Given the description of an element on the screen output the (x, y) to click on. 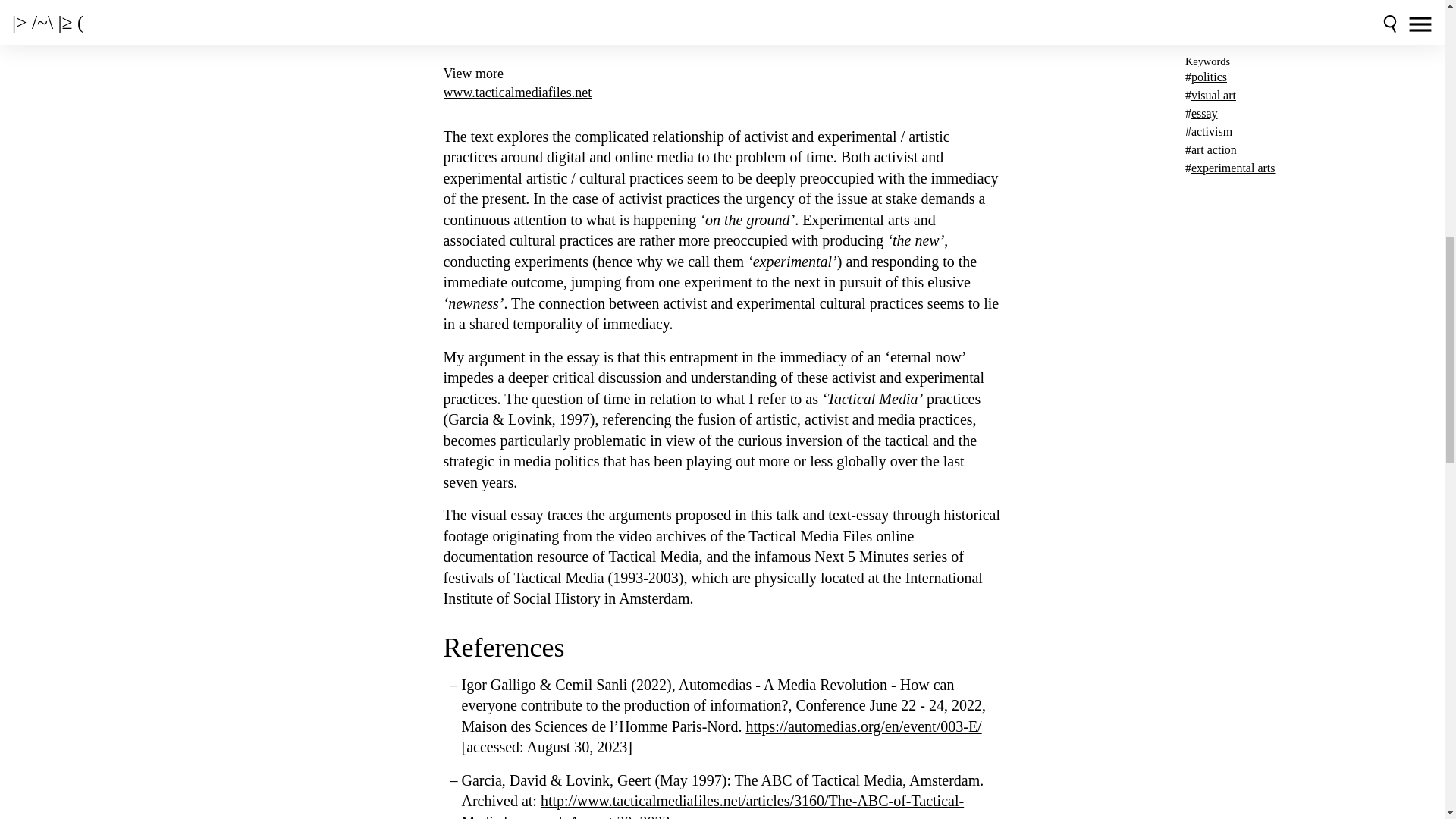
politics (1209, 76)
experimental arts (1233, 167)
activism (1211, 131)
visual art (1213, 94)
art action (1213, 149)
www.tacticalmediafiles.net (721, 92)
politics of knowledge research group '22-'23 (1262, 13)
essay (1204, 113)
